Given the description of an element on the screen output the (x, y) to click on. 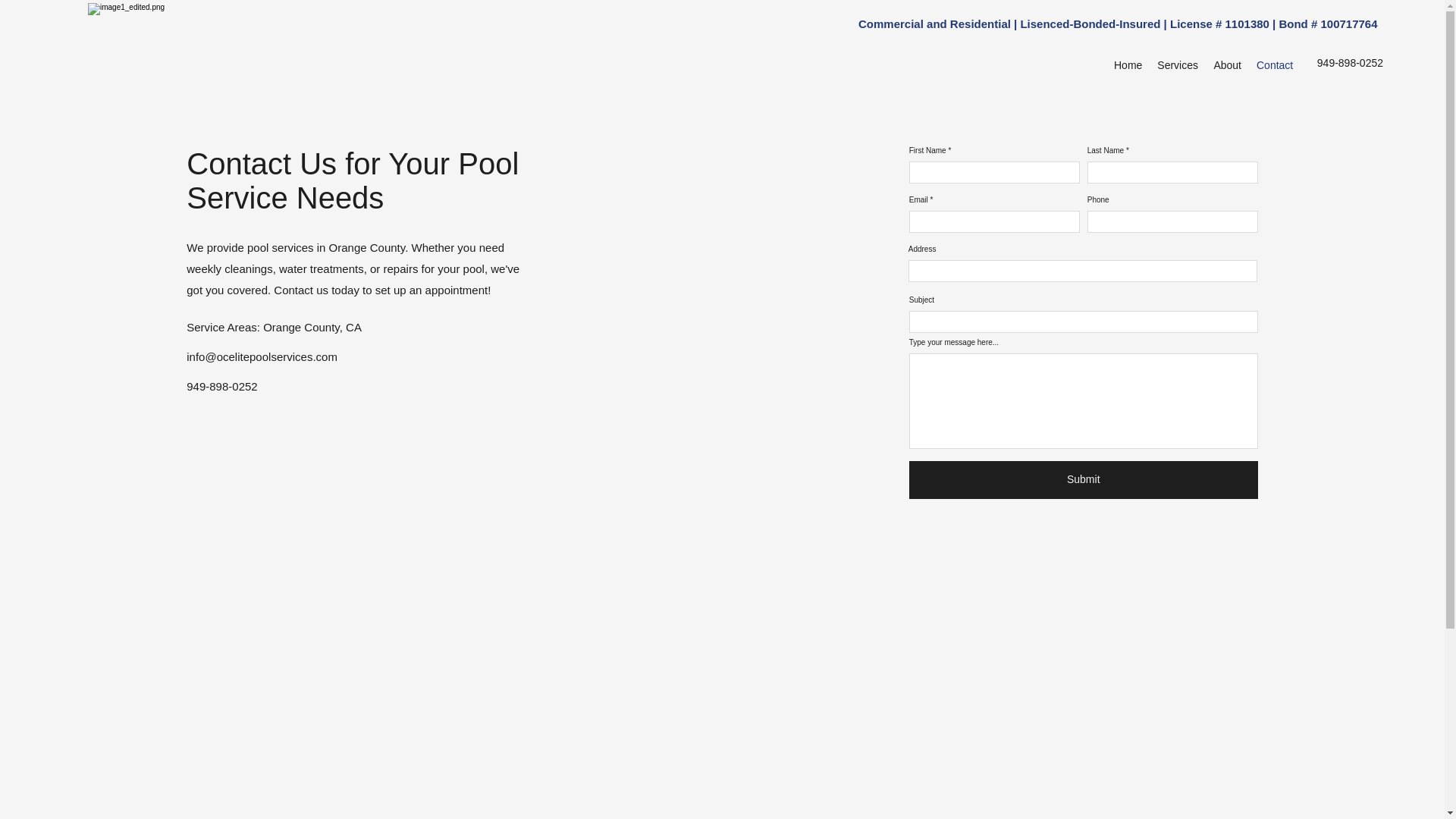
Contact (1274, 65)
Home (1128, 65)
Services (1177, 65)
About (1227, 65)
Submit (1082, 479)
